Given the description of an element on the screen output the (x, y) to click on. 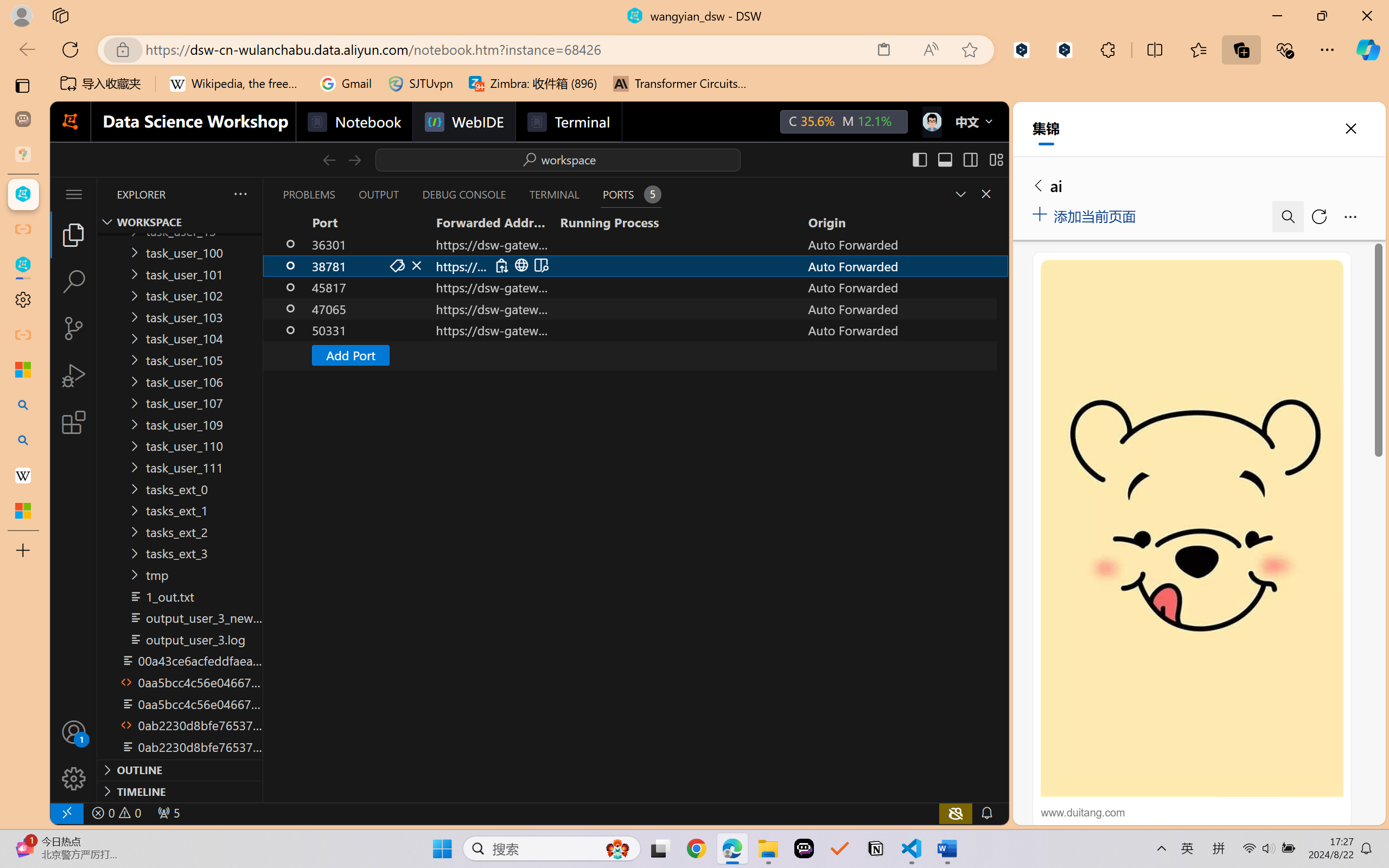
Outline Section (179, 769)
Notebook (353, 121)
Class: next-menu next-hoz widgets--iconMenu--BFkiHRM (930, 121)
Views and More Actions... (239, 193)
Timeline Section (179, 791)
Go Back (Alt+LeftArrow) (329, 159)
Restore Panel Size (959, 193)
